Given the description of an element on the screen output the (x, y) to click on. 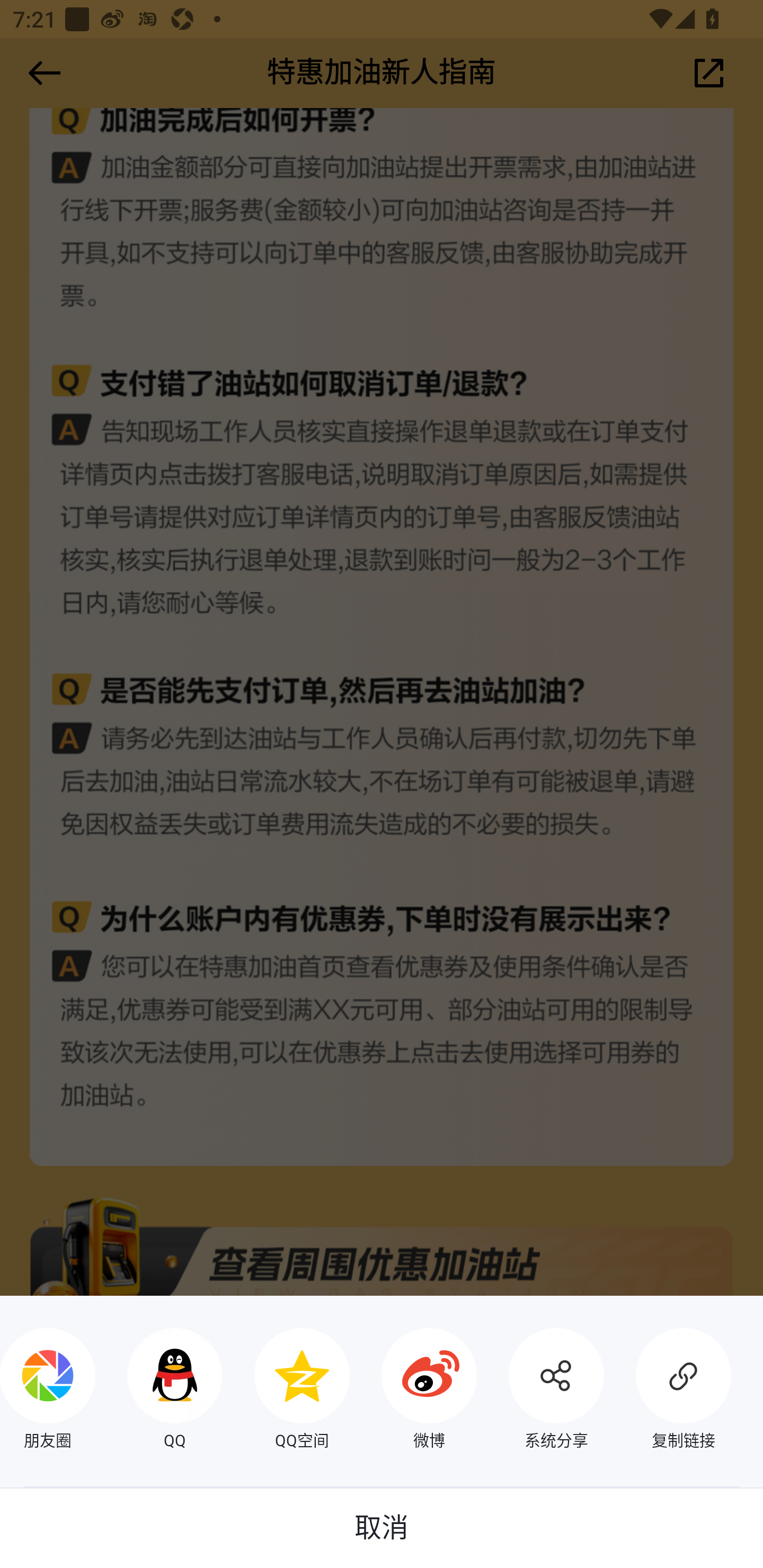
朋友圈 (47, 1390)
QQ (158, 1390)
QQ空间 (285, 1390)
微博 (412, 1390)
系统分享 (540, 1390)
复制链接 (667, 1390)
取消 (381, 1528)
